Given the description of an element on the screen output the (x, y) to click on. 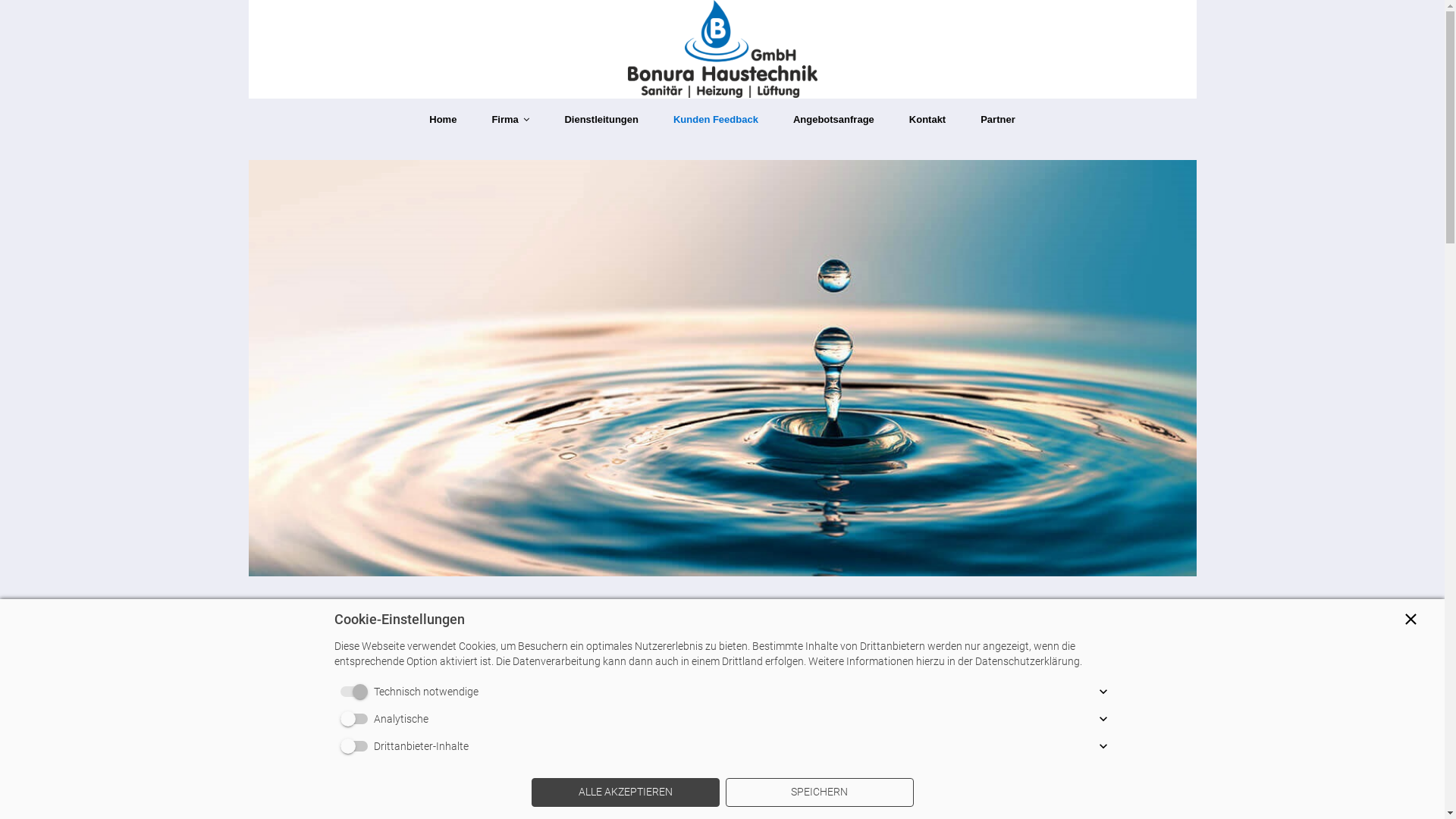
Google Rezensionen Element type: text (837, 793)
Firma Element type: text (510, 119)
Kontakt Element type: text (927, 119)
Partner Element type: text (997, 119)
Angebotsanfrage Element type: text (833, 119)
Dienstleitungen Element type: text (601, 119)
Home Element type: text (442, 119)
Kunden Feedback Element type: text (715, 119)
SPEICHERN Element type: text (818, 792)
. Element type: text (899, 793)
ALLE AKZEPTIEREN Element type: text (624, 792)
